Given the description of an element on the screen output the (x, y) to click on. 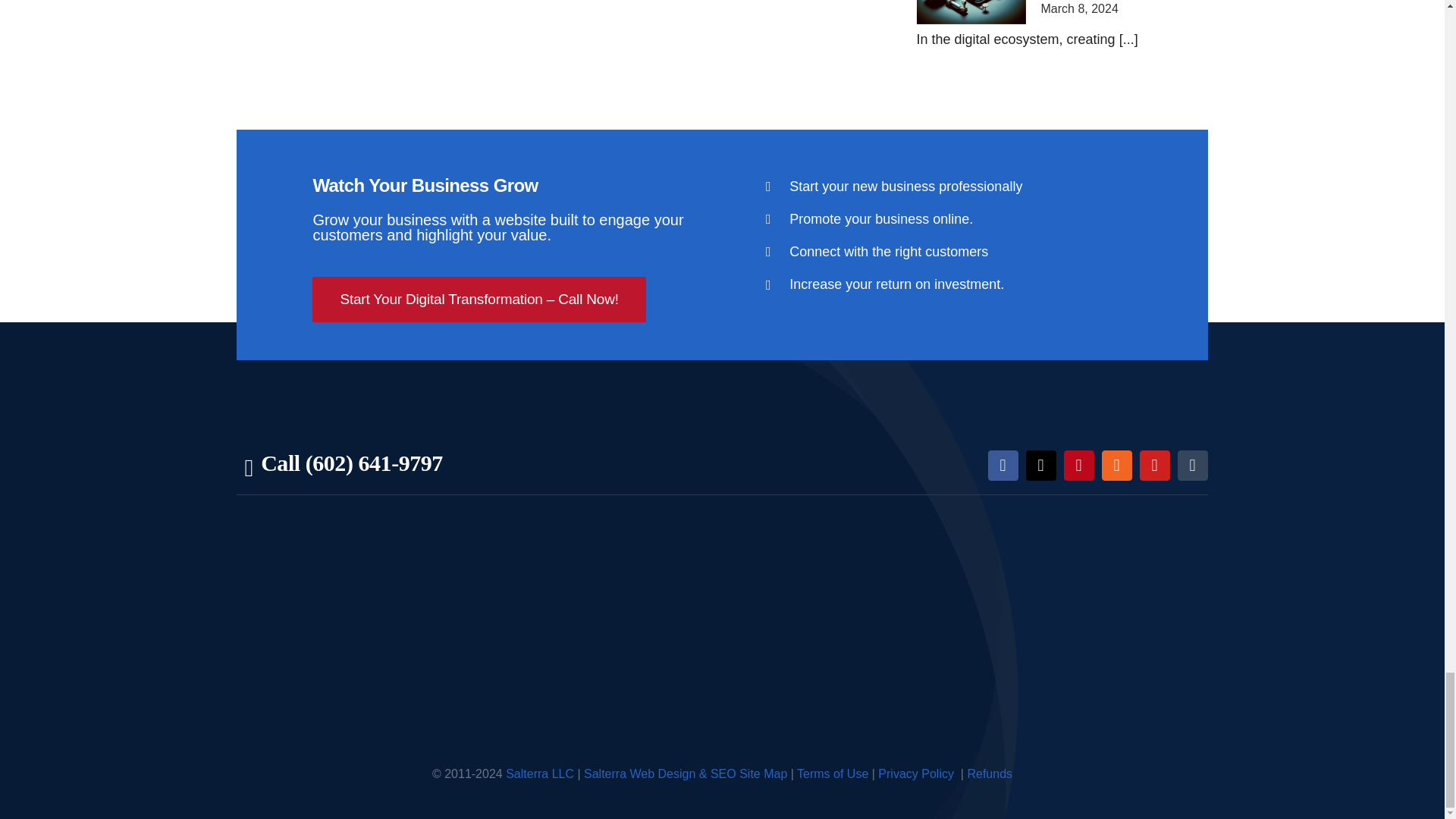
Pinterest (1079, 465)
Tumblr (1192, 465)
credit cards color logo png transparent (686, 465)
Facebook (1002, 465)
Rss (1117, 465)
YouTube (1155, 465)
X (1041, 465)
